Given the description of an element on the screen output the (x, y) to click on. 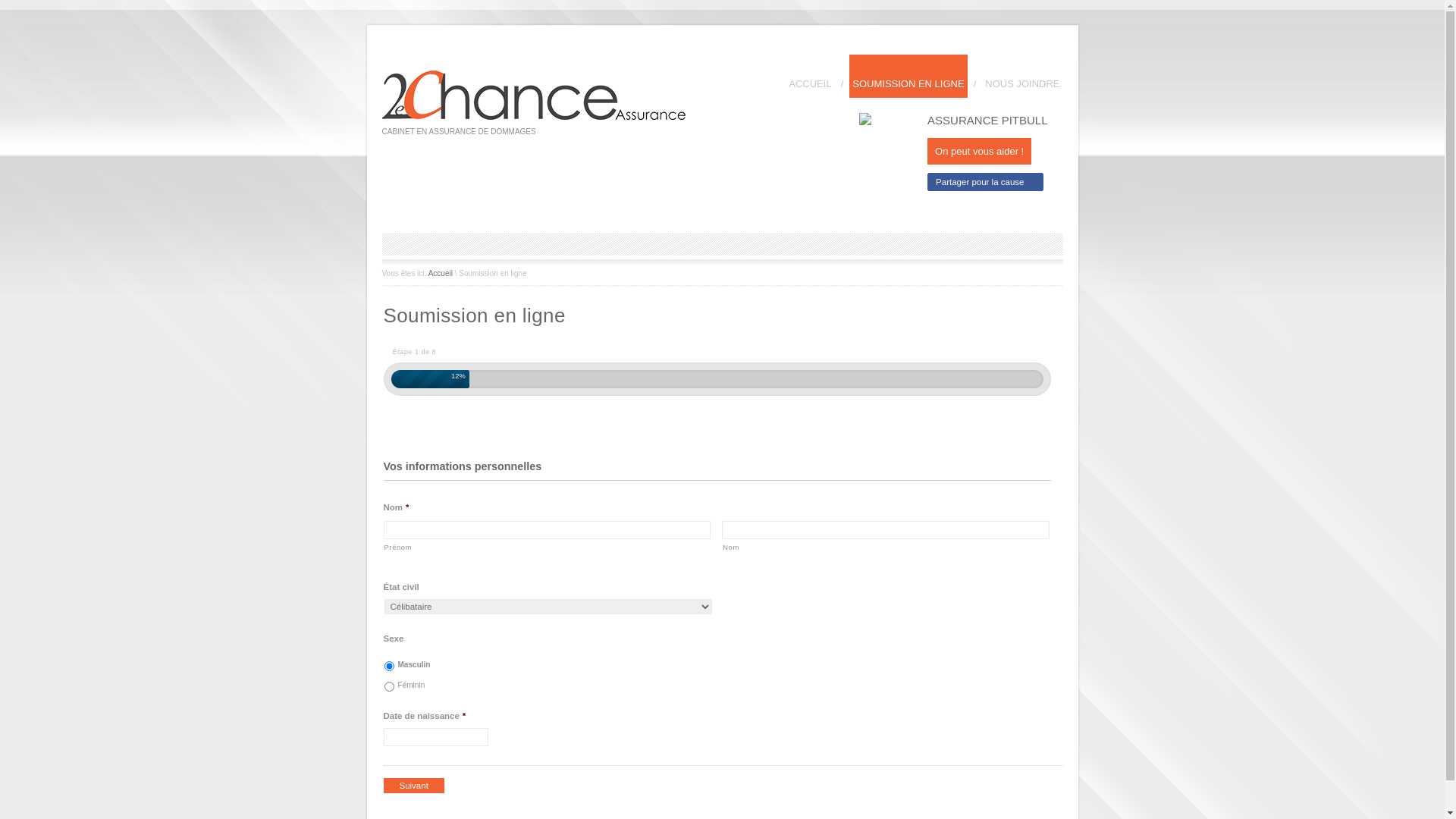
NOUS JOINDRE Element type: text (1022, 75)
ACCUEIL Element type: text (809, 75)
Suivant Element type: text (413, 785)
On peut vous aider ! Element type: text (979, 151)
Accueil Element type: text (440, 273)
Assurance Suspension Permis Element type: hover (533, 116)
SOUMISSION EN LIGNE Element type: text (907, 75)
Partager pour la cause Element type: text (985, 181)
